Given the description of an element on the screen output the (x, y) to click on. 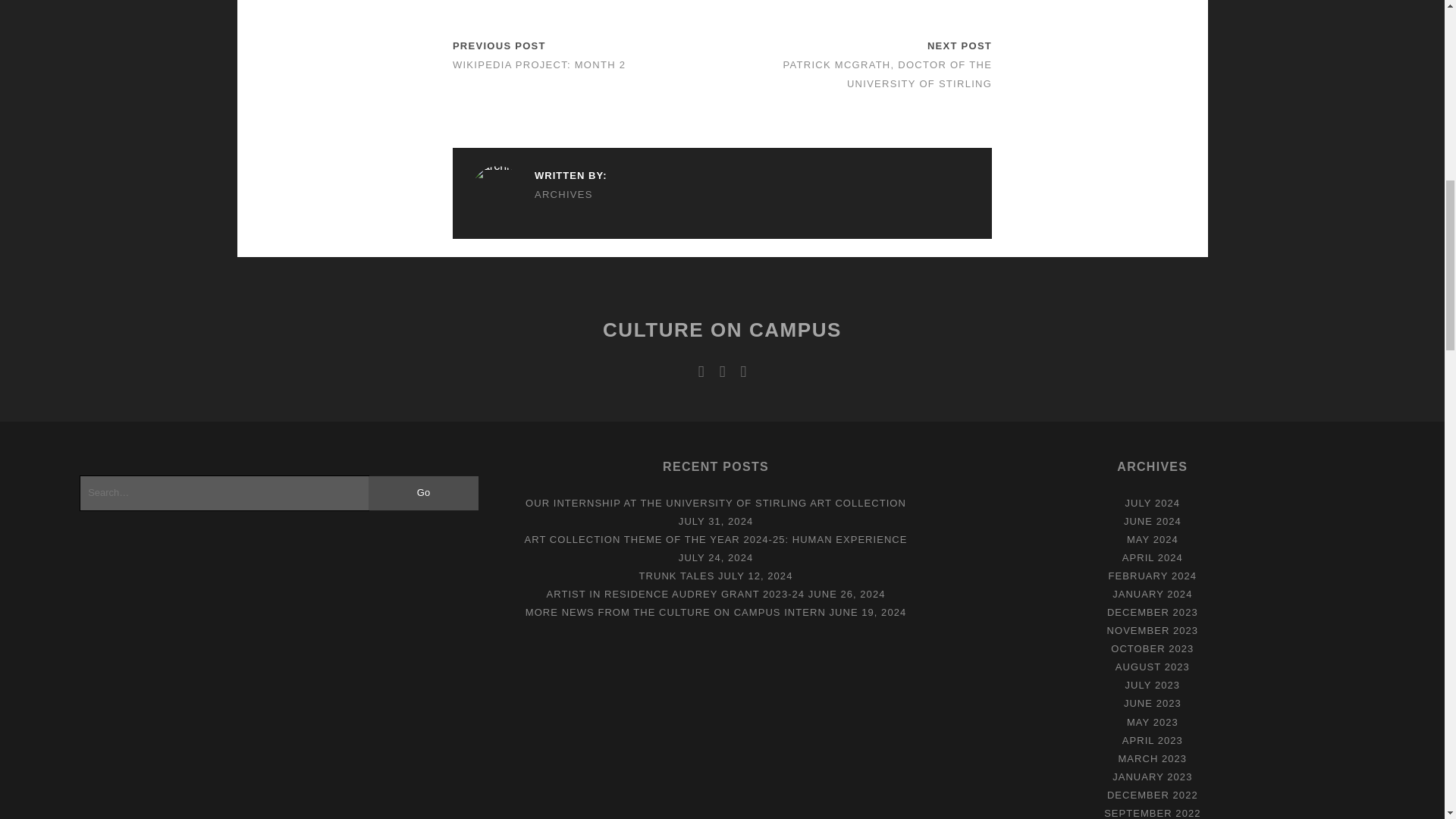
ART COLLECTION THEME OF THE YEAR 2024-25: HUMAN EXPERIENCE (715, 539)
Go (422, 492)
CULTURE ON CAMPUS (721, 329)
MAY 2024 (1151, 539)
JANUARY 2024 (1152, 593)
TRUNK TALES (676, 575)
Go (422, 492)
Posts by archives (538, 194)
JUNE 2024 (1152, 521)
WIKIPEDIA PROJECT: MONTH 2 (539, 64)
PATRICK MCGRATH, DOCTOR OF THE UNIVERSITY OF STIRLING (887, 73)
JULY 2024 (1152, 502)
Search for: (224, 492)
OUR INTERNSHIP AT THE UNIVERSITY OF STIRLING ART COLLECTION (715, 502)
Go (422, 492)
